Given the description of an element on the screen output the (x, y) to click on. 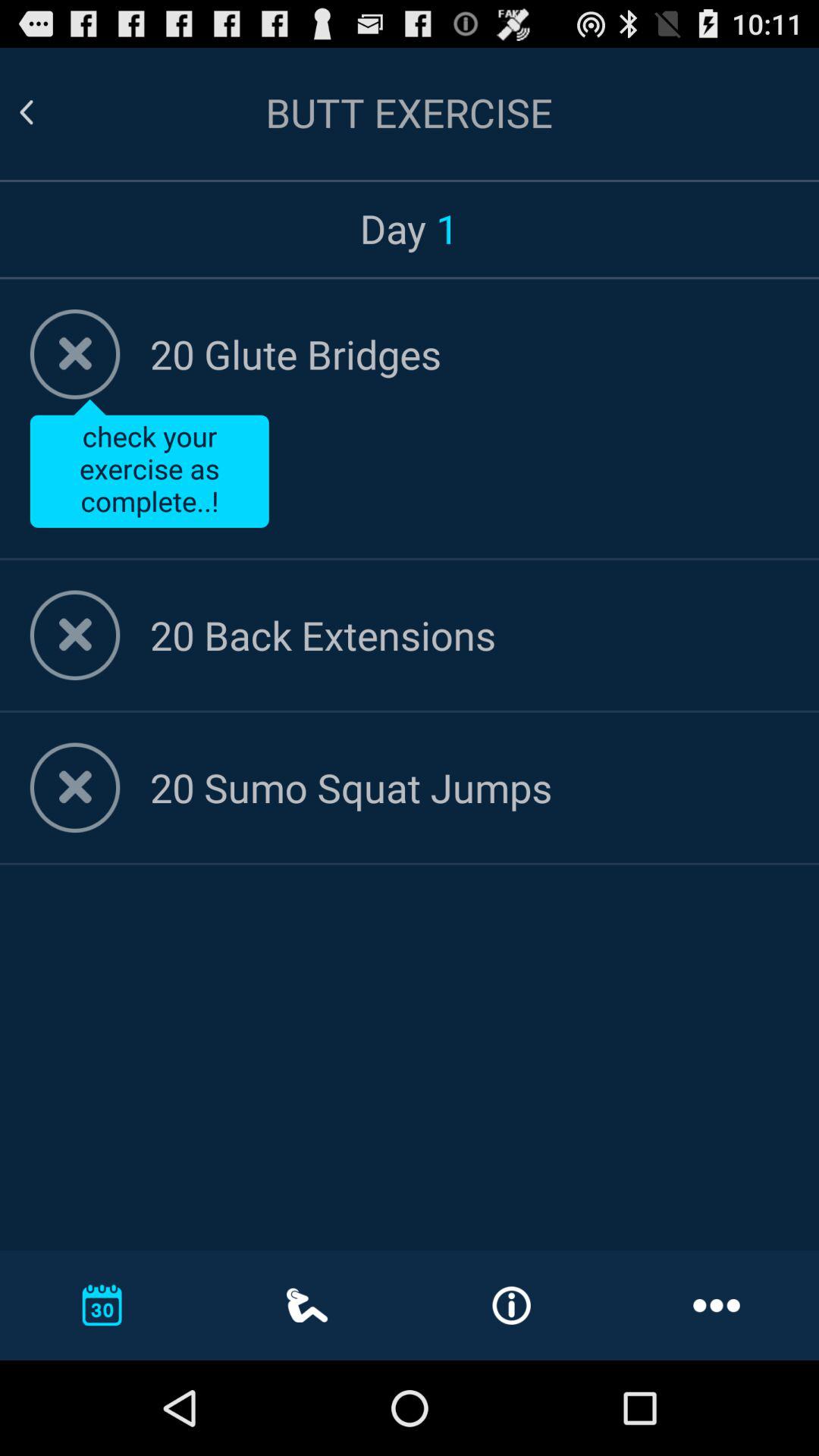
closes the workout (75, 635)
